Given the description of an element on the screen output the (x, y) to click on. 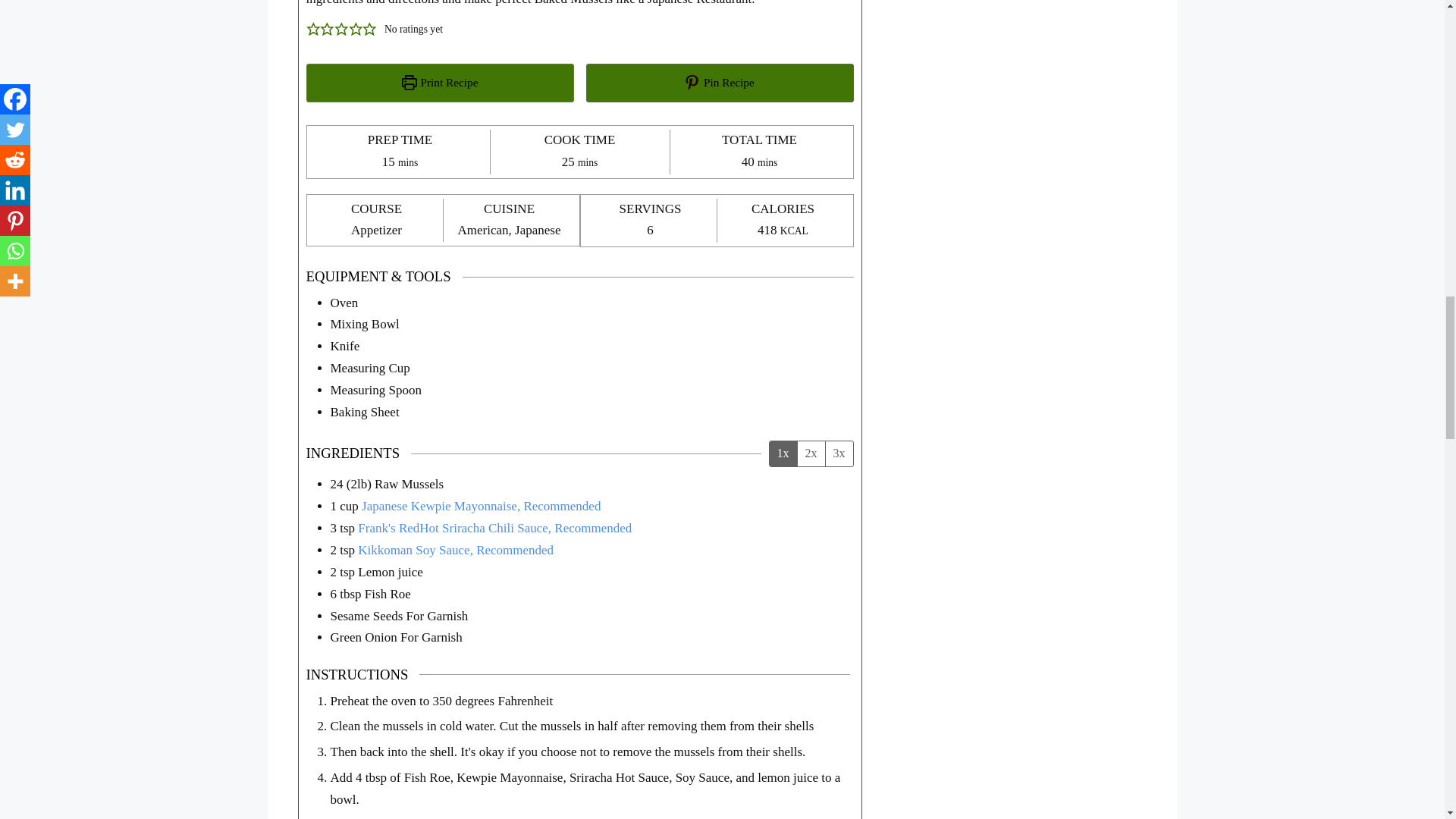
3x (839, 453)
Kikkoman Soy Sauce, Recommended (455, 549)
1x (782, 453)
Print Recipe (439, 82)
2x (810, 453)
Frank's RedHot Sriracha Chili Sauce, Recommended (494, 527)
Japanese Kewpie Mayonnaise, Recommended (480, 505)
Pin Recipe (719, 82)
